Given the description of an element on the screen output the (x, y) to click on. 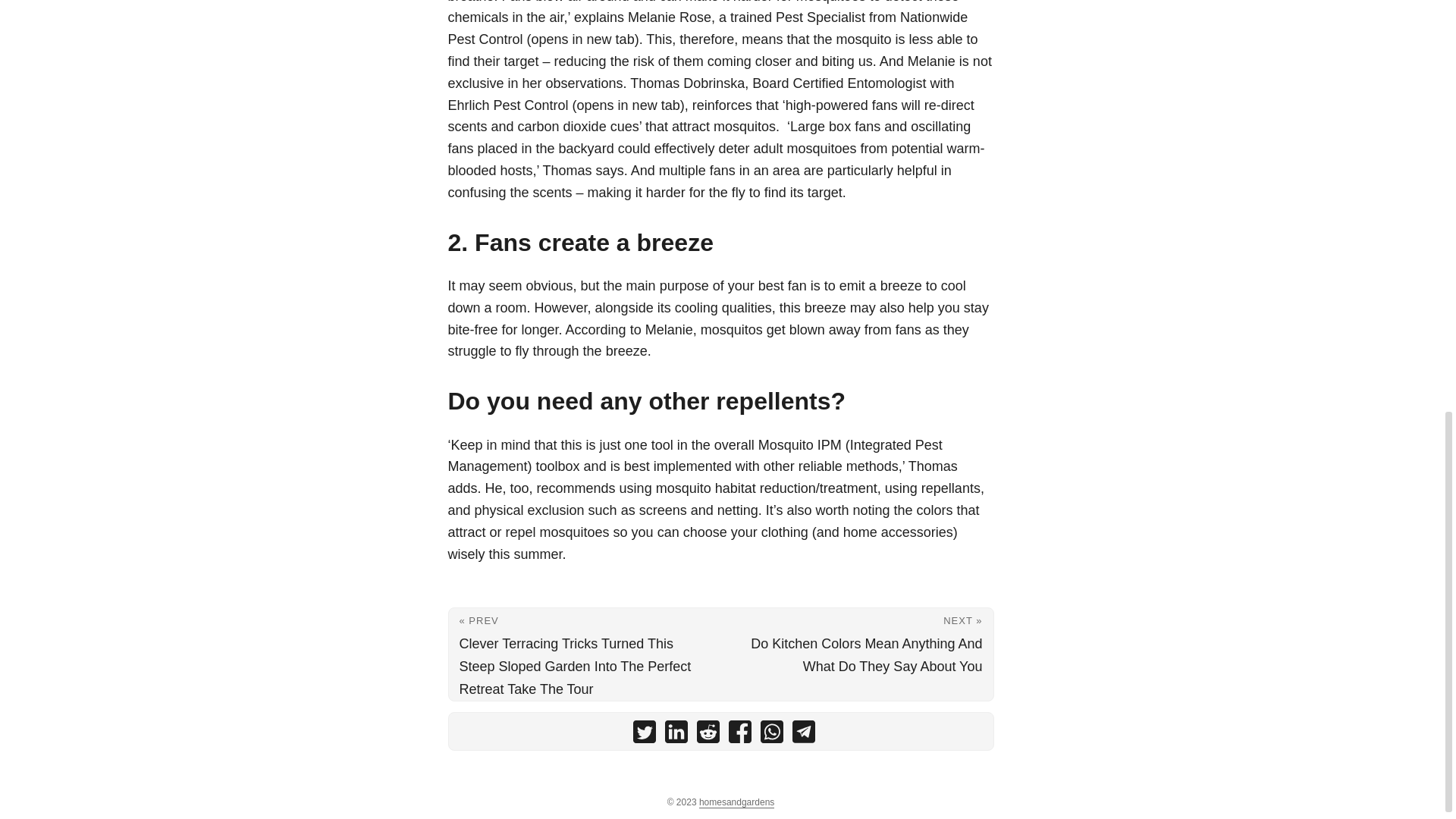
homesandgardens (736, 802)
